Given the description of an element on the screen output the (x, y) to click on. 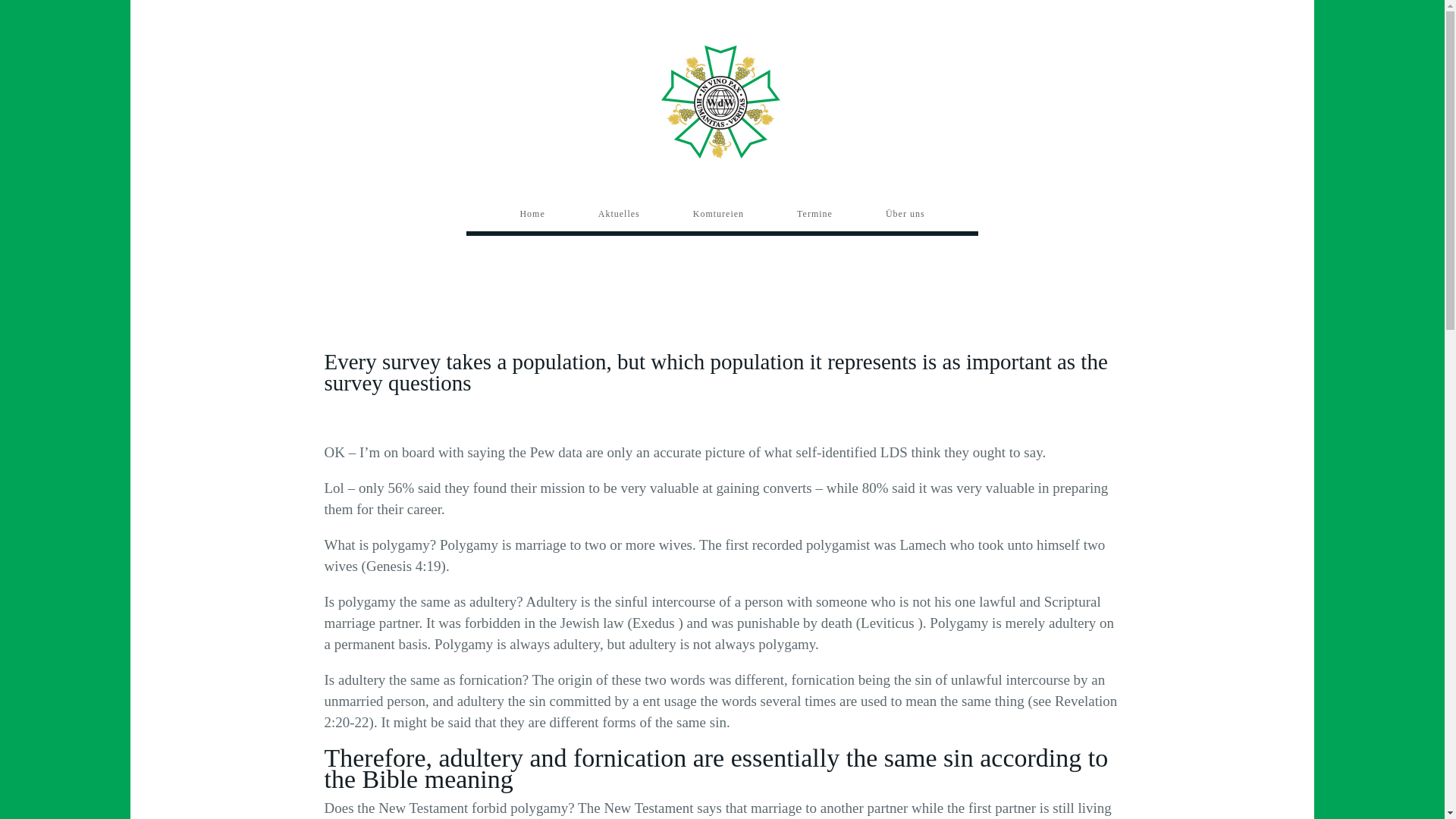
Termine (814, 213)
Aktuelles (619, 213)
Komtureien (718, 213)
